Given the description of an element on the screen output the (x, y) to click on. 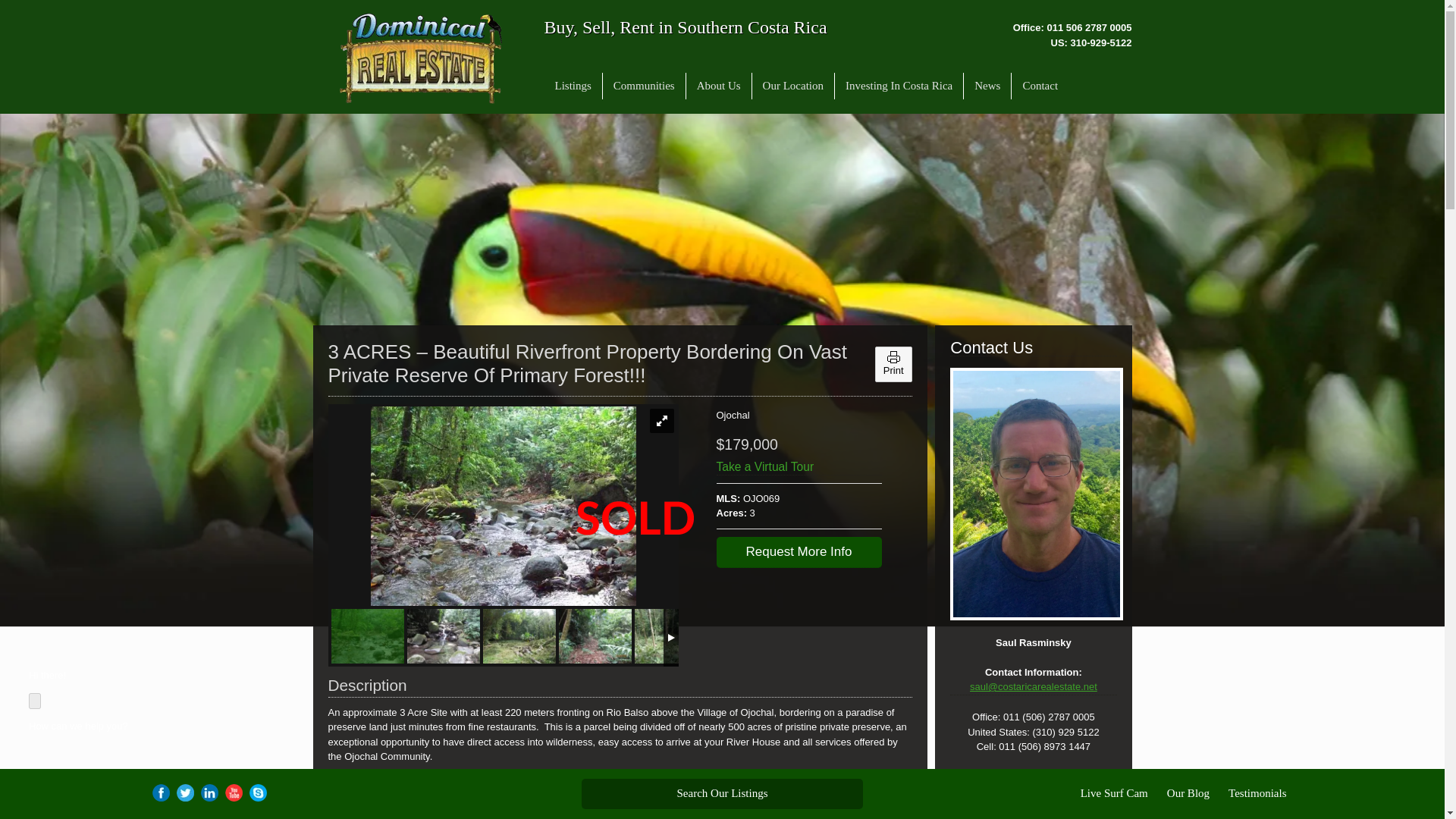
Print (892, 357)
Our Location (793, 85)
Dominical Real Estate (420, 57)
Investing In Costa Rica (898, 85)
Communities (643, 85)
About Us (718, 85)
Take a Virtual Tour (798, 467)
Request More Info (798, 552)
Listings (572, 85)
Print (893, 370)
News (986, 85)
Contact (1039, 85)
